Given the description of an element on the screen output the (x, y) to click on. 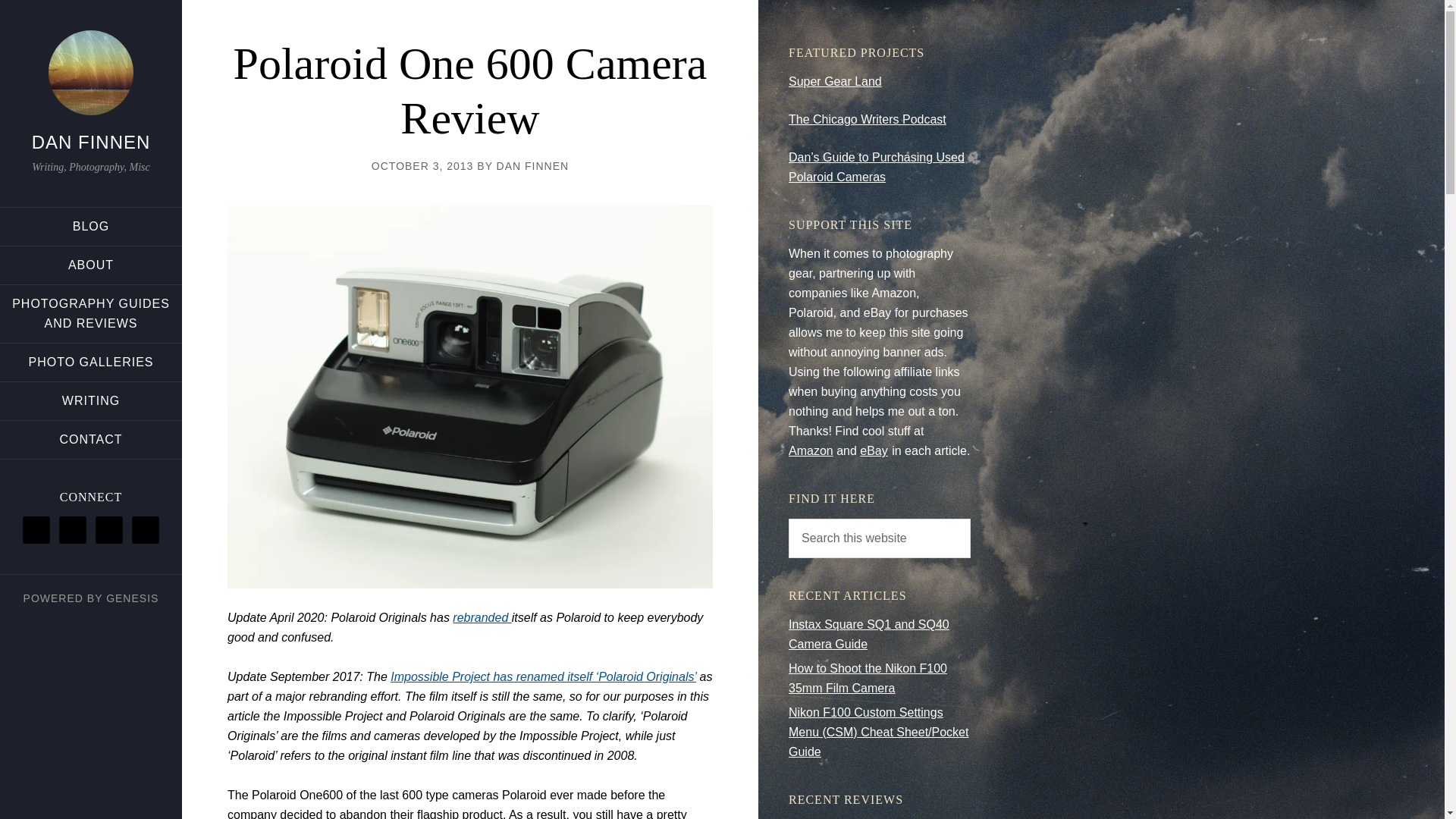
WRITING (91, 401)
GENESIS (132, 598)
BLOG (91, 226)
CONTACT (91, 439)
rebranded (481, 617)
The Chicago Writers Podcast (867, 119)
PHOTO GALLERIES (91, 362)
ABOUT (91, 265)
DAN FINNEN (91, 141)
Super Gear Land (835, 81)
DAN FINNEN (532, 165)
PHOTOGRAPHY GUIDES AND REVIEWS (91, 314)
